Given the description of an element on the screen output the (x, y) to click on. 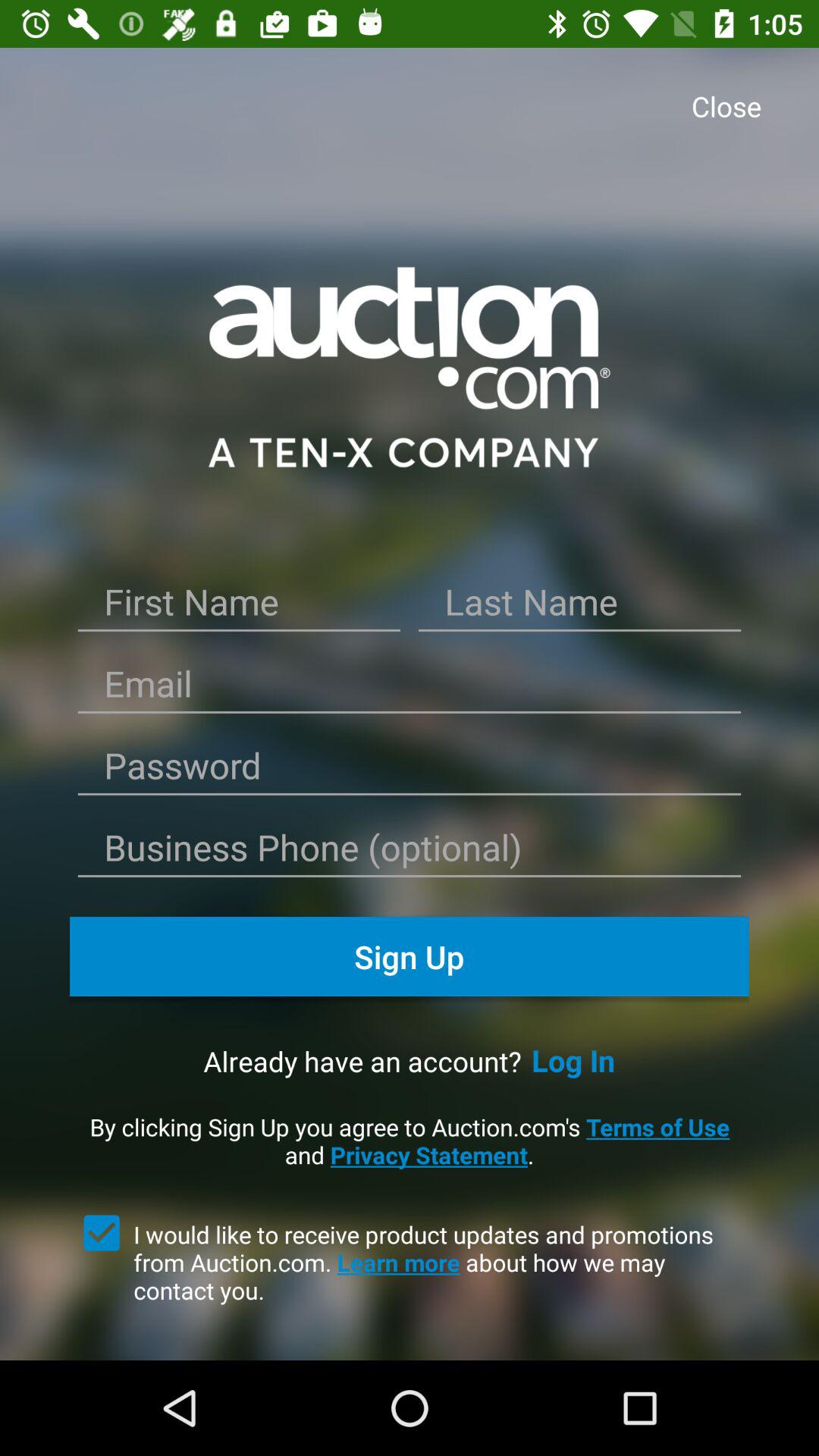
click by clicking sign item (409, 1140)
